Given the description of an element on the screen output the (x, y) to click on. 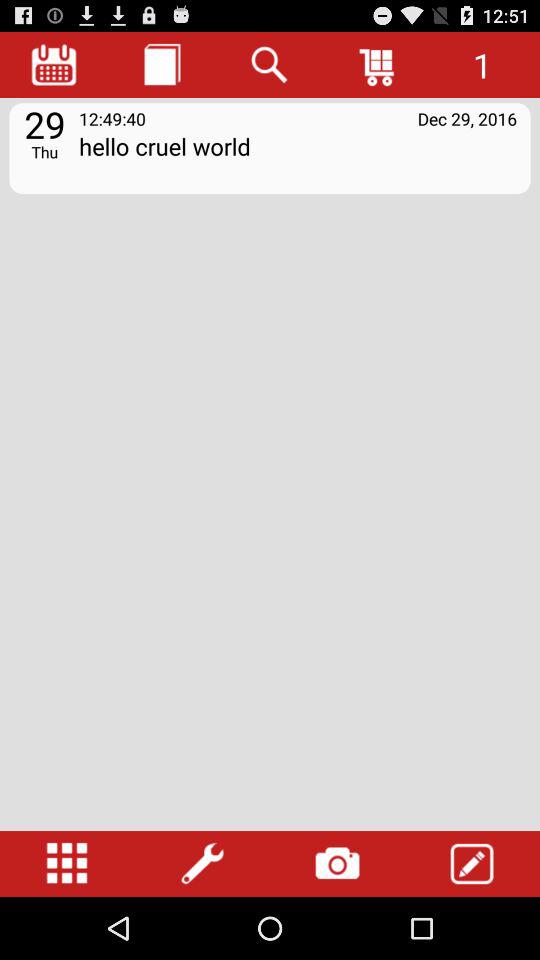
select item below the hello cruel world app (67, 863)
